Given the description of an element on the screen output the (x, y) to click on. 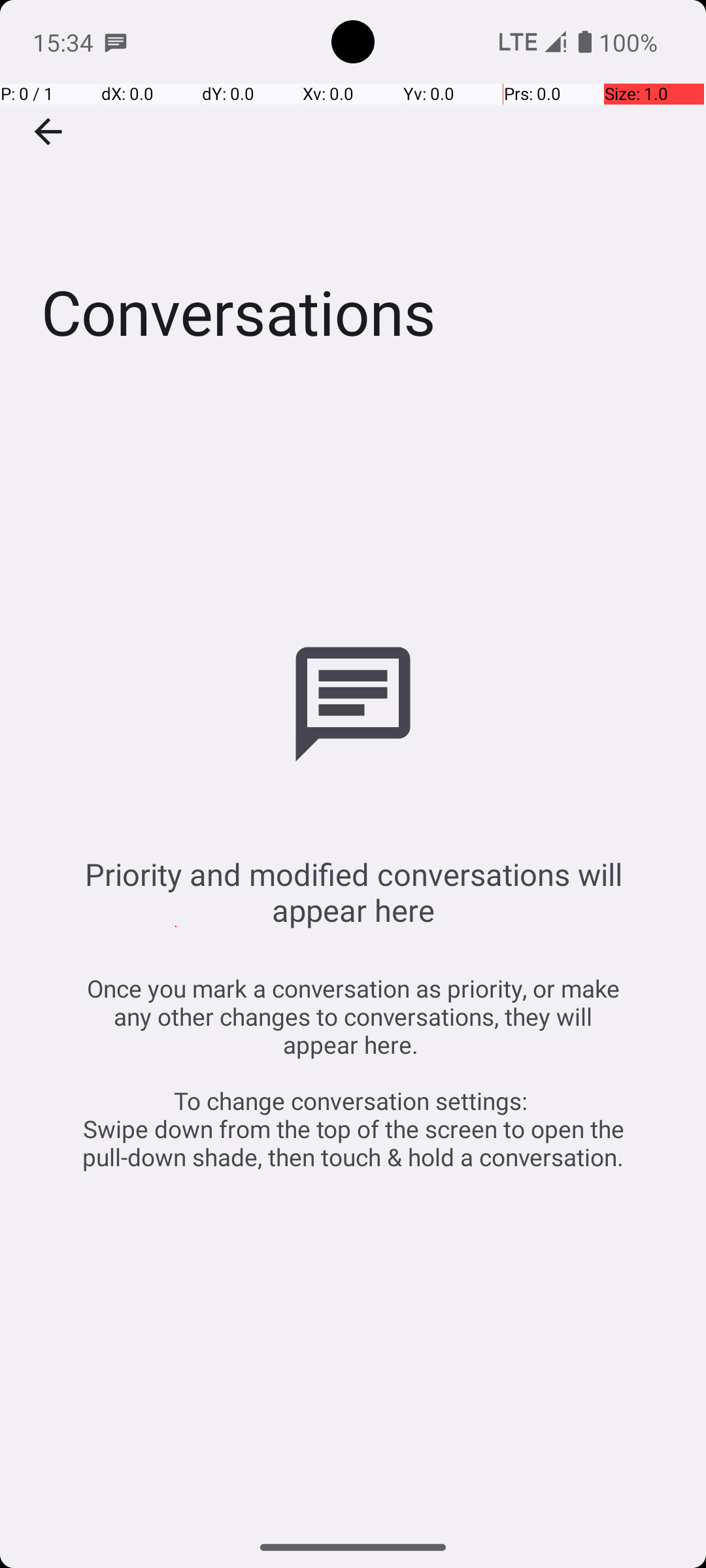
Priority and modified conversations will appear here Element type: android.widget.TextView (352, 891)
Once you mark a conversation as priority, or make any other changes to conversations, they will appear here. 

To change conversation settings: 
Swipe down from the top of the screen to open the pull-down shade, then touch & hold a conversation. Element type: android.widget.TextView (352, 1072)
